Given the description of an element on the screen output the (x, y) to click on. 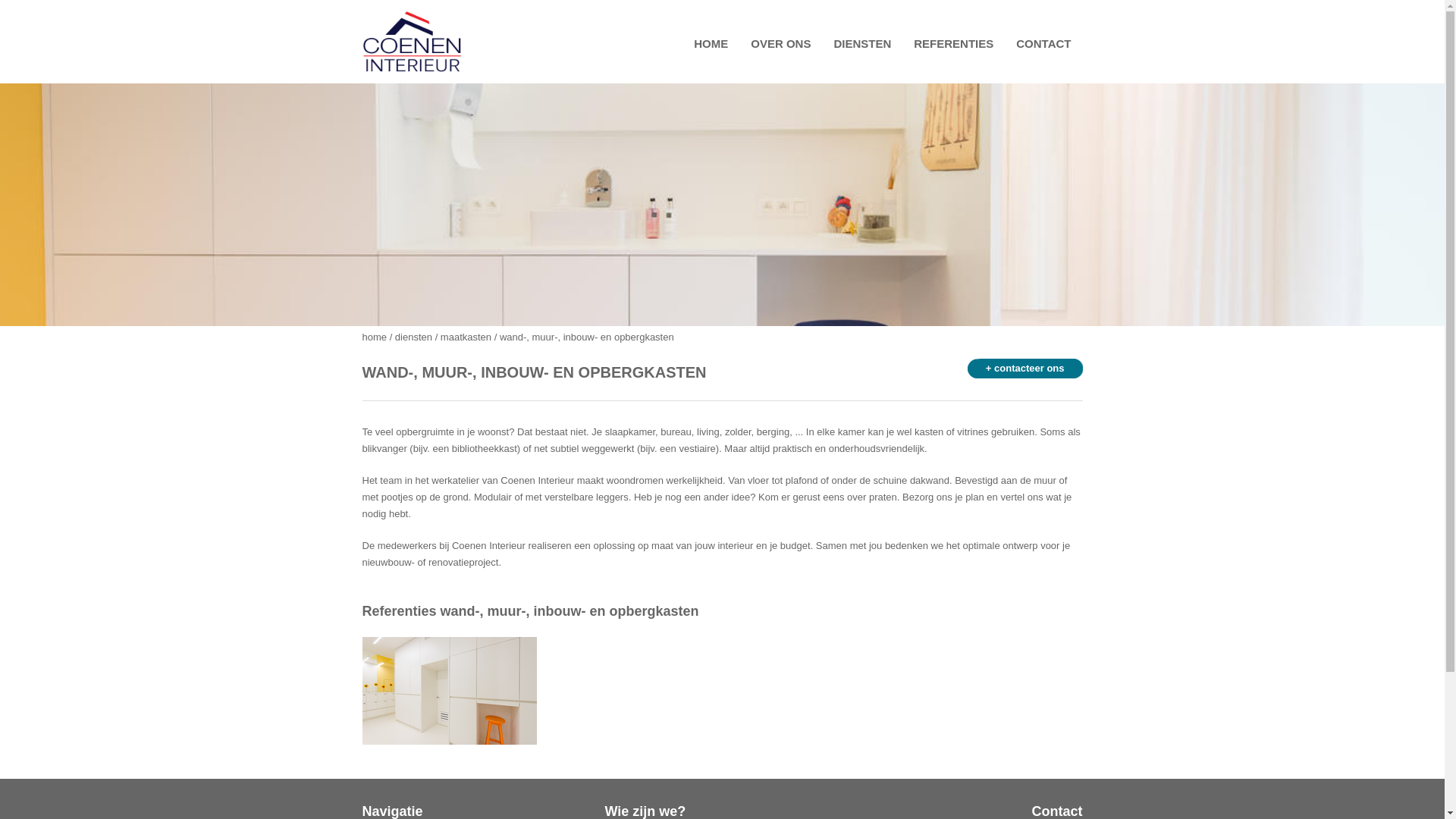
REFERENTIES Element type: text (953, 43)
COENEN INTERIEUR Element type: text (433, 45)
HOME Element type: text (710, 43)
home Element type: text (374, 336)
CONTACT Element type: text (1043, 43)
+ contacteer ons Element type: text (1018, 368)
OVER ONS Element type: text (780, 43)
DIENSTEN Element type: text (862, 43)
